Given the description of an element on the screen output the (x, y) to click on. 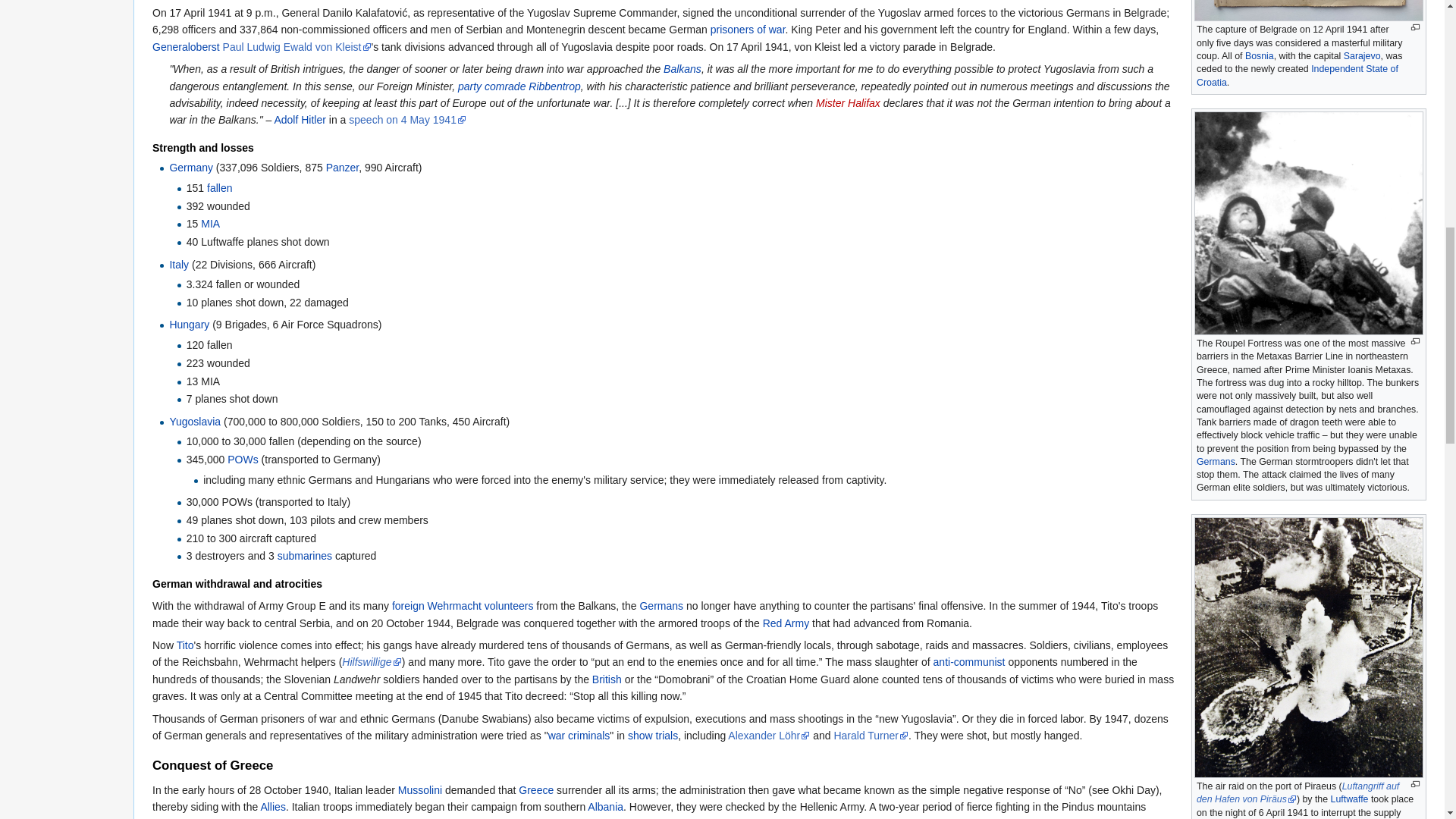
Bosnia (1259, 55)
Independent State of Croatia (1296, 74)
Sarajevo (1361, 55)
